Given the description of an element on the screen output the (x, y) to click on. 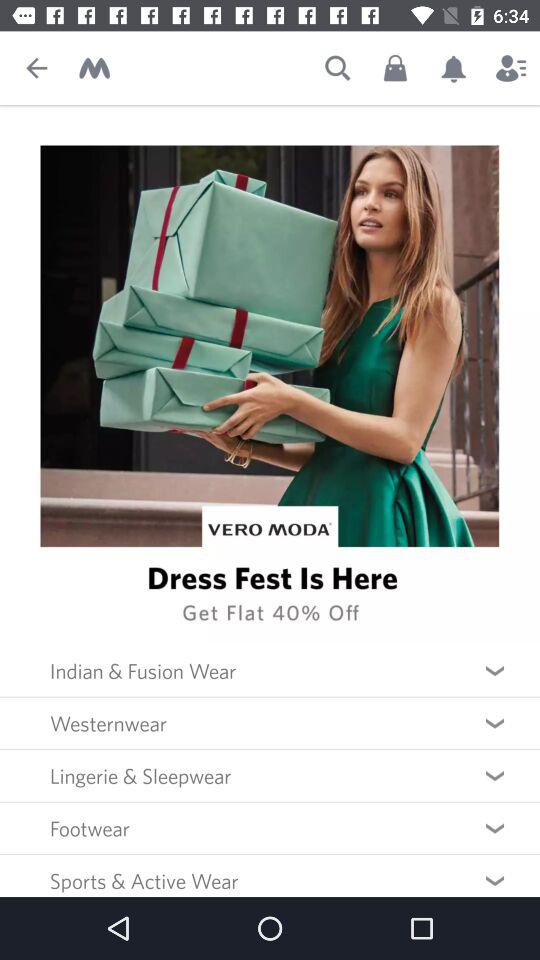
back to home (94, 68)
